Given the description of an element on the screen output the (x, y) to click on. 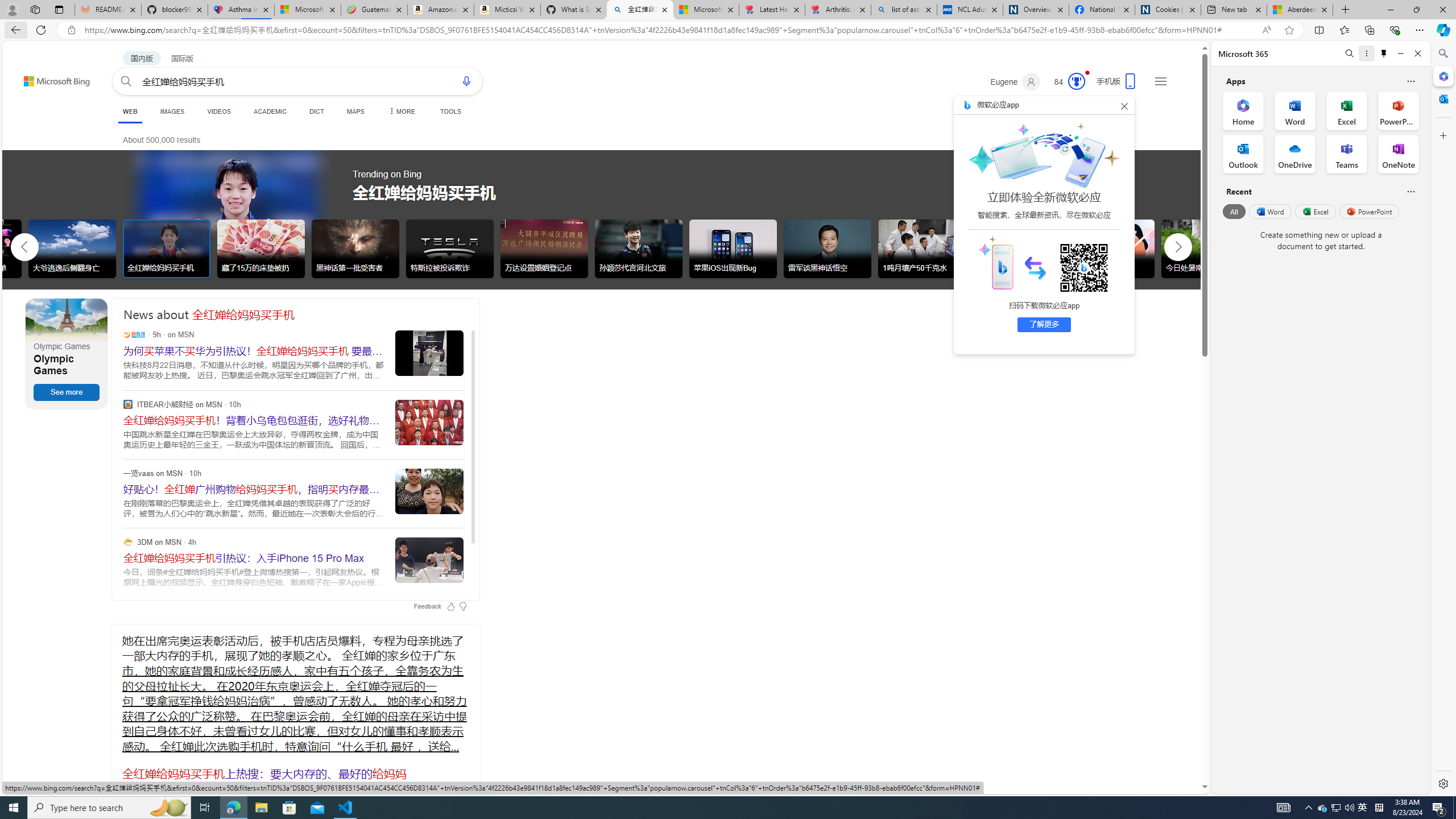
AutomationID: mfa_root (1161, 752)
OneNote Office App (1398, 154)
AutomationID: tob_left_arrow (24, 246)
Is this helpful? (1410, 191)
Microsoft Rewards 84 (1065, 81)
Cookies | About | NICE (1167, 9)
